Given the description of an element on the screen output the (x, y) to click on. 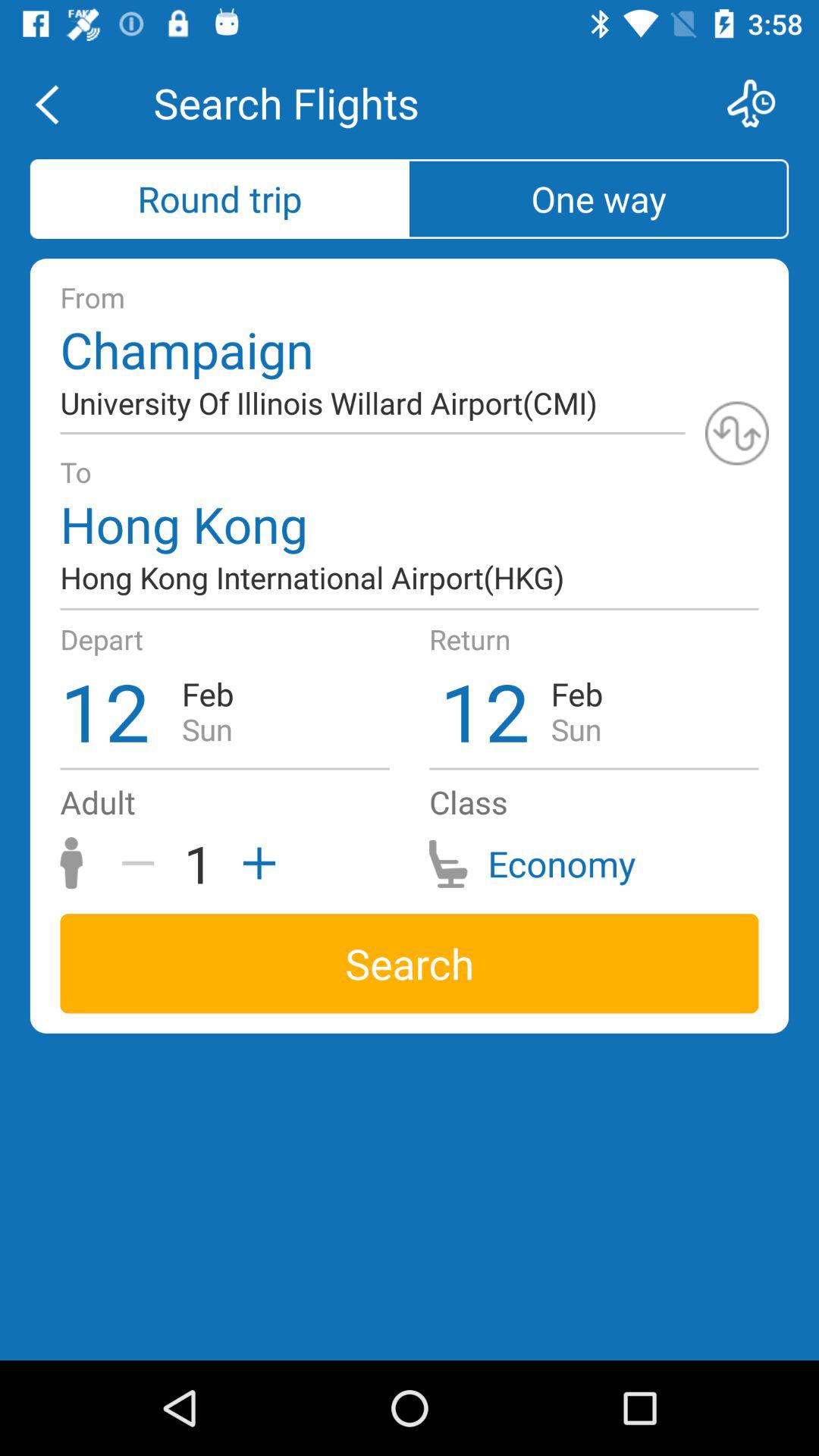
minus one (143, 863)
